Given the description of an element on the screen output the (x, y) to click on. 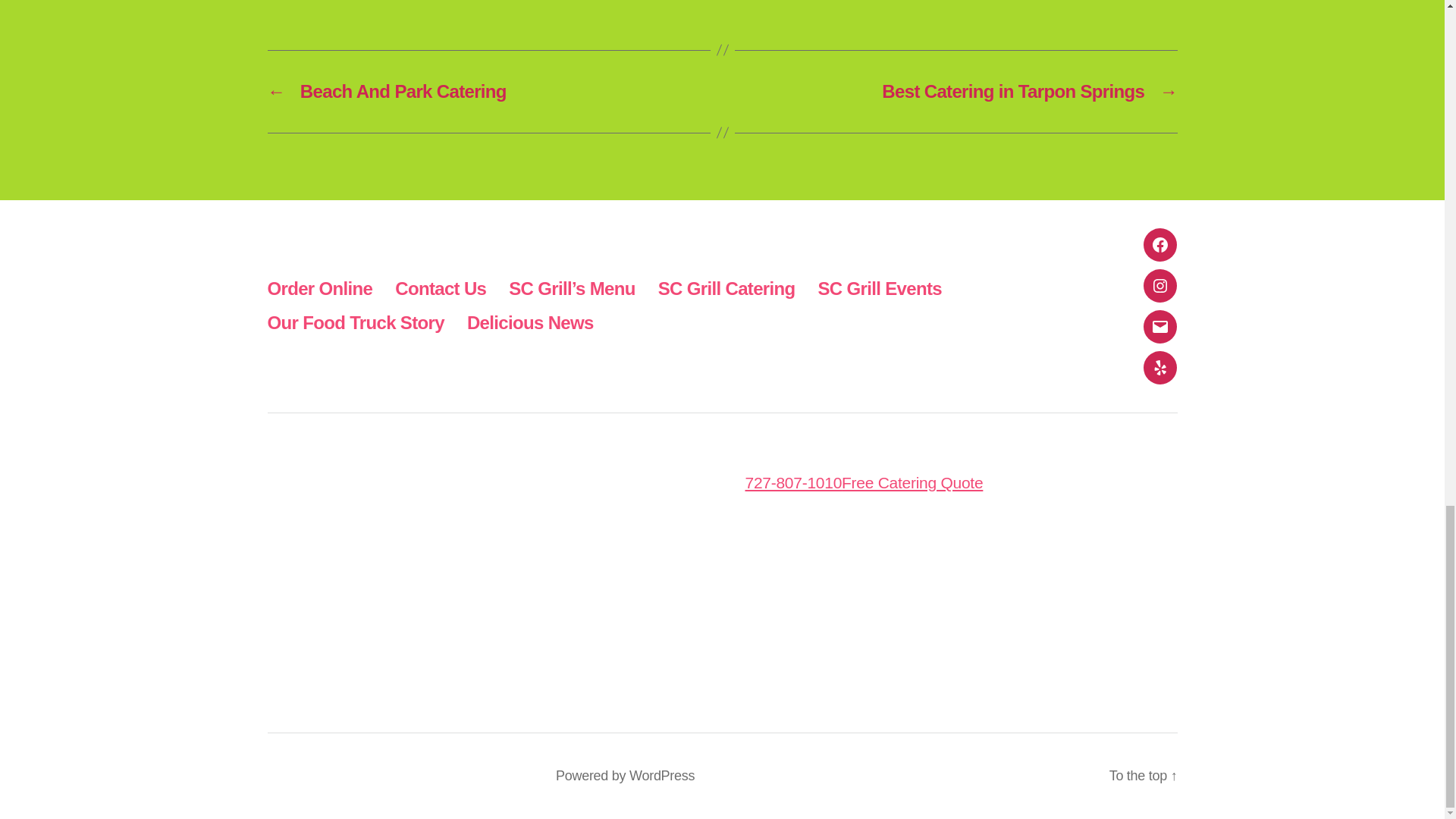
Our Food Truck Story (355, 322)
Order Online (319, 288)
Delicious News (530, 322)
SC Grill Catering (726, 288)
Contact Us (440, 288)
SC Grill Events (880, 288)
